Given the description of an element on the screen output the (x, y) to click on. 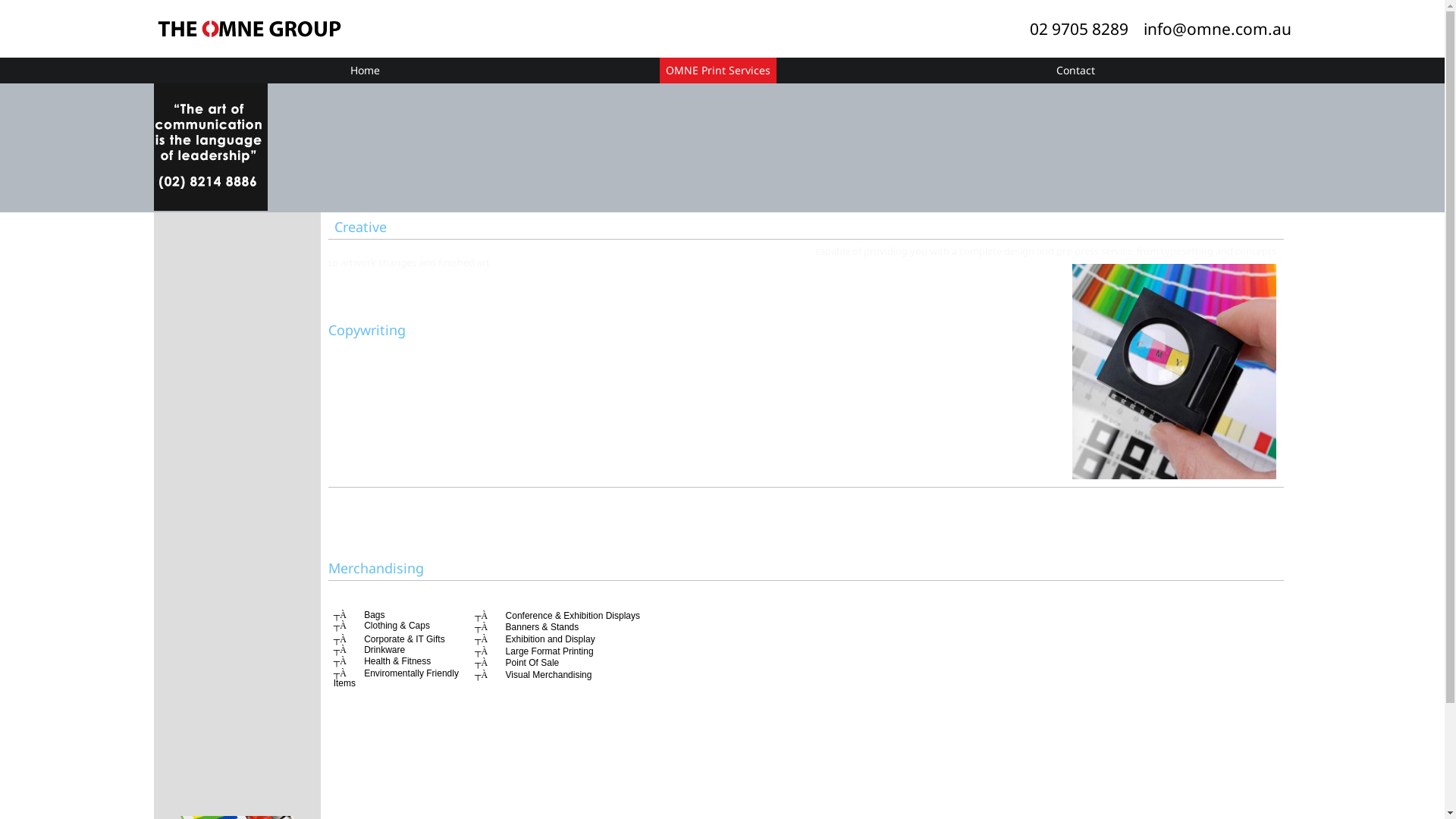
Contact Element type: text (1074, 70)
OMNE Print Services Element type: text (717, 70)
Home Element type: text (364, 70)
info@omne.com.au Element type: text (1217, 29)
